Given the description of an element on the screen output the (x, y) to click on. 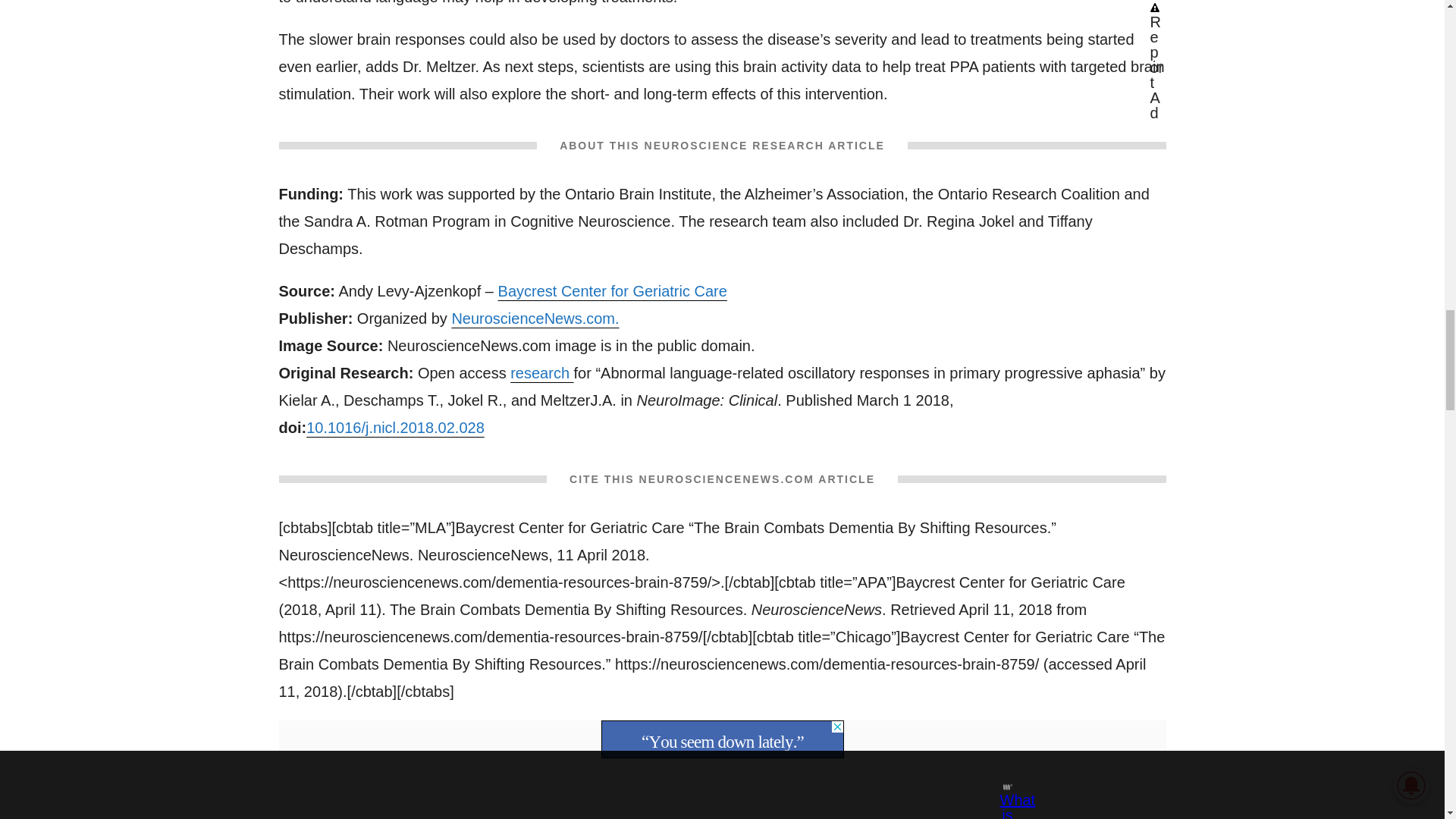
3rd party ad content (721, 739)
research (542, 372)
NeuroscienceNews.com. (534, 318)
Baycrest Center for Geriatric Care (611, 290)
